Given the description of an element on the screen output the (x, y) to click on. 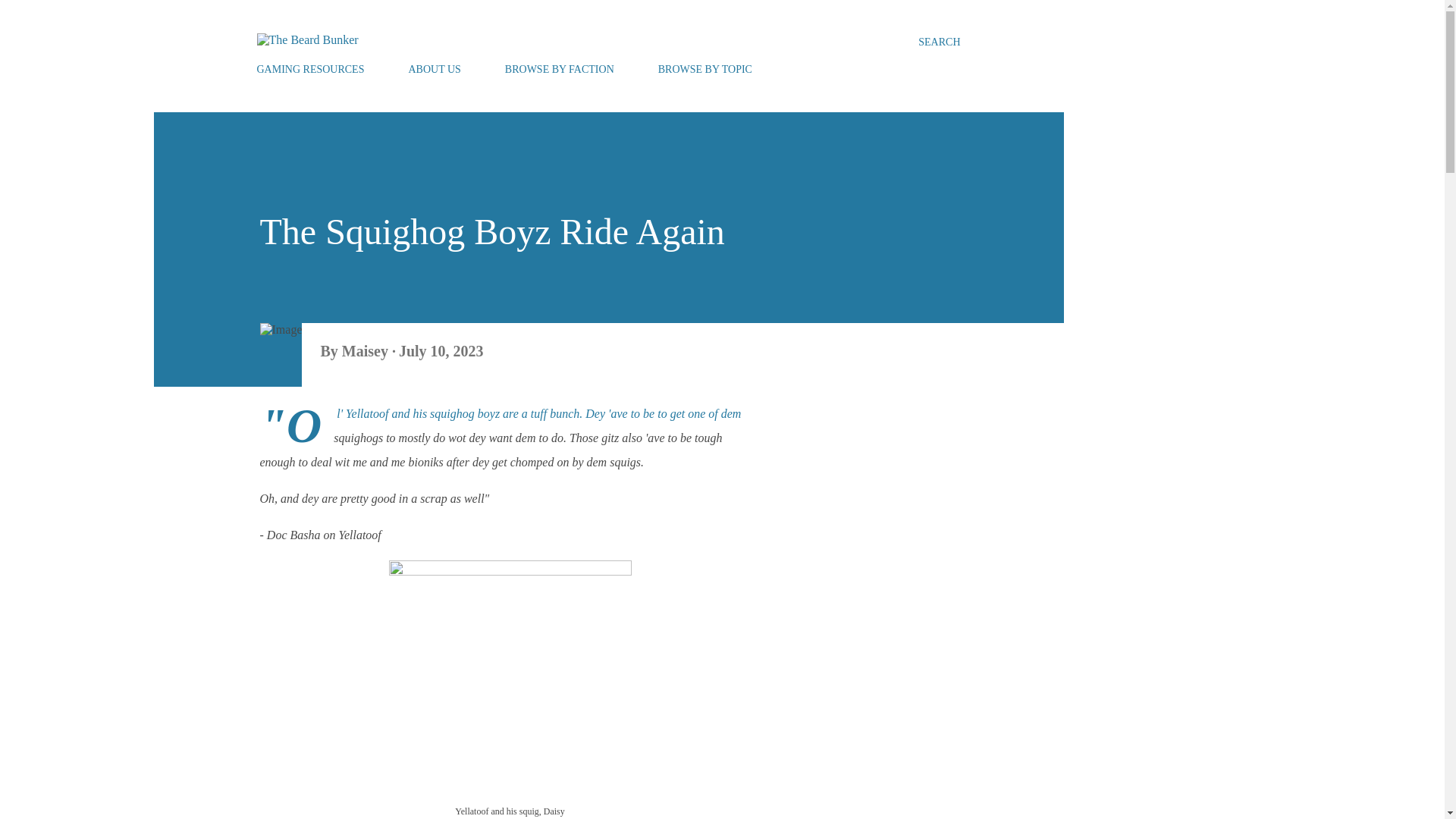
GAMING RESOURCES (314, 69)
permanent link (440, 351)
BROWSE BY FACTION (559, 69)
SEARCH (938, 42)
Maisey (366, 351)
BROWSE BY TOPIC (705, 69)
July 10, 2023 (440, 351)
ABOUT US (433, 69)
author profile (366, 351)
